Given the description of an element on the screen output the (x, y) to click on. 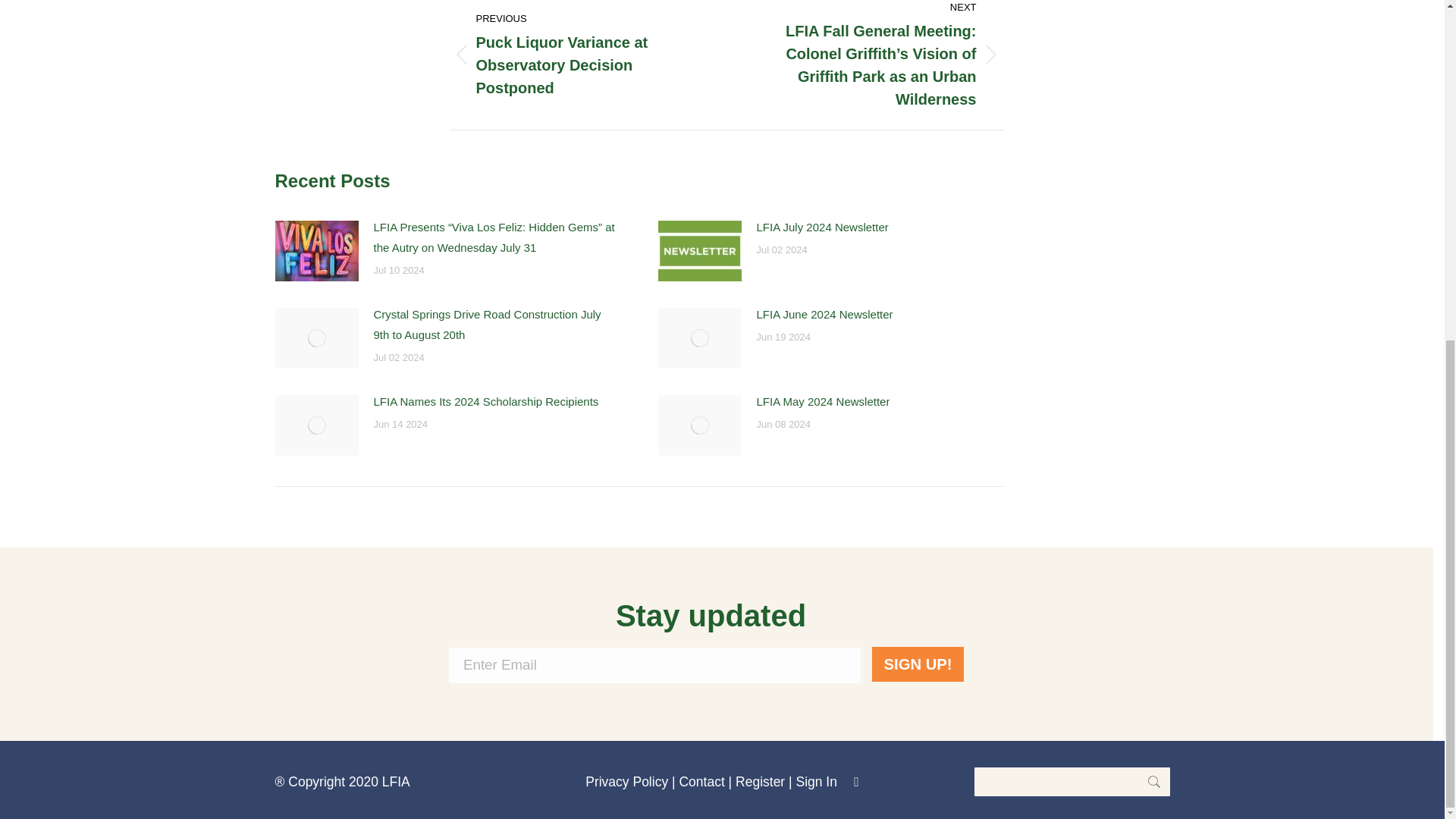
SIGN UP! (917, 664)
1965 (350, 5)
Go! (1146, 781)
Go! (1146, 781)
